Given the description of an element on the screen output the (x, y) to click on. 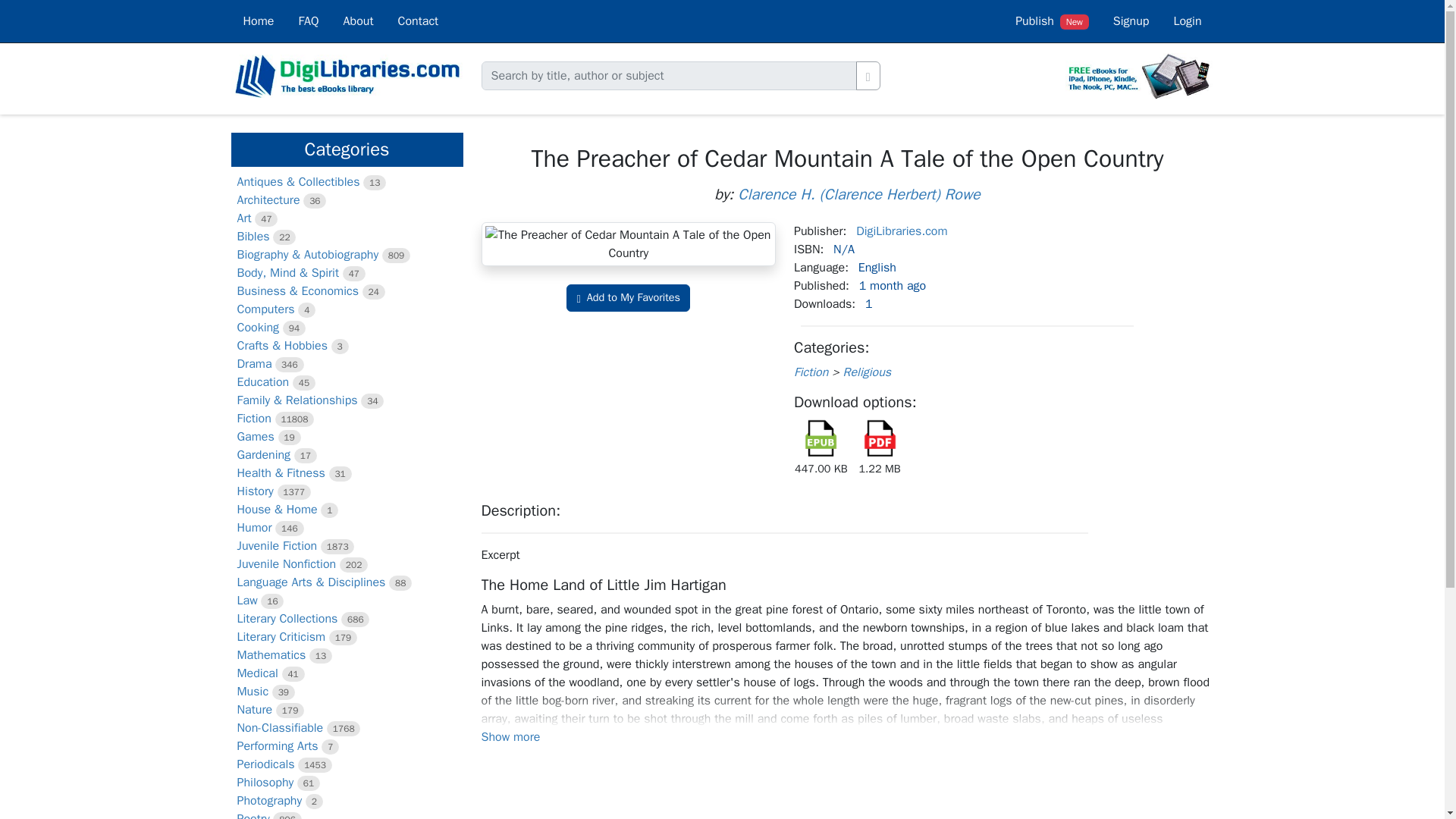
Humor (252, 527)
Art (242, 218)
Juvenile Fiction (276, 545)
Architecture (267, 200)
About (358, 21)
Login (1186, 21)
Juvenile Nonfiction (285, 563)
FAQ (307, 21)
Drama (252, 363)
Mathematics (270, 654)
Home (257, 21)
Law (246, 600)
Cooking (257, 327)
Education (261, 381)
Bibles (252, 236)
